Given the description of an element on the screen output the (x, y) to click on. 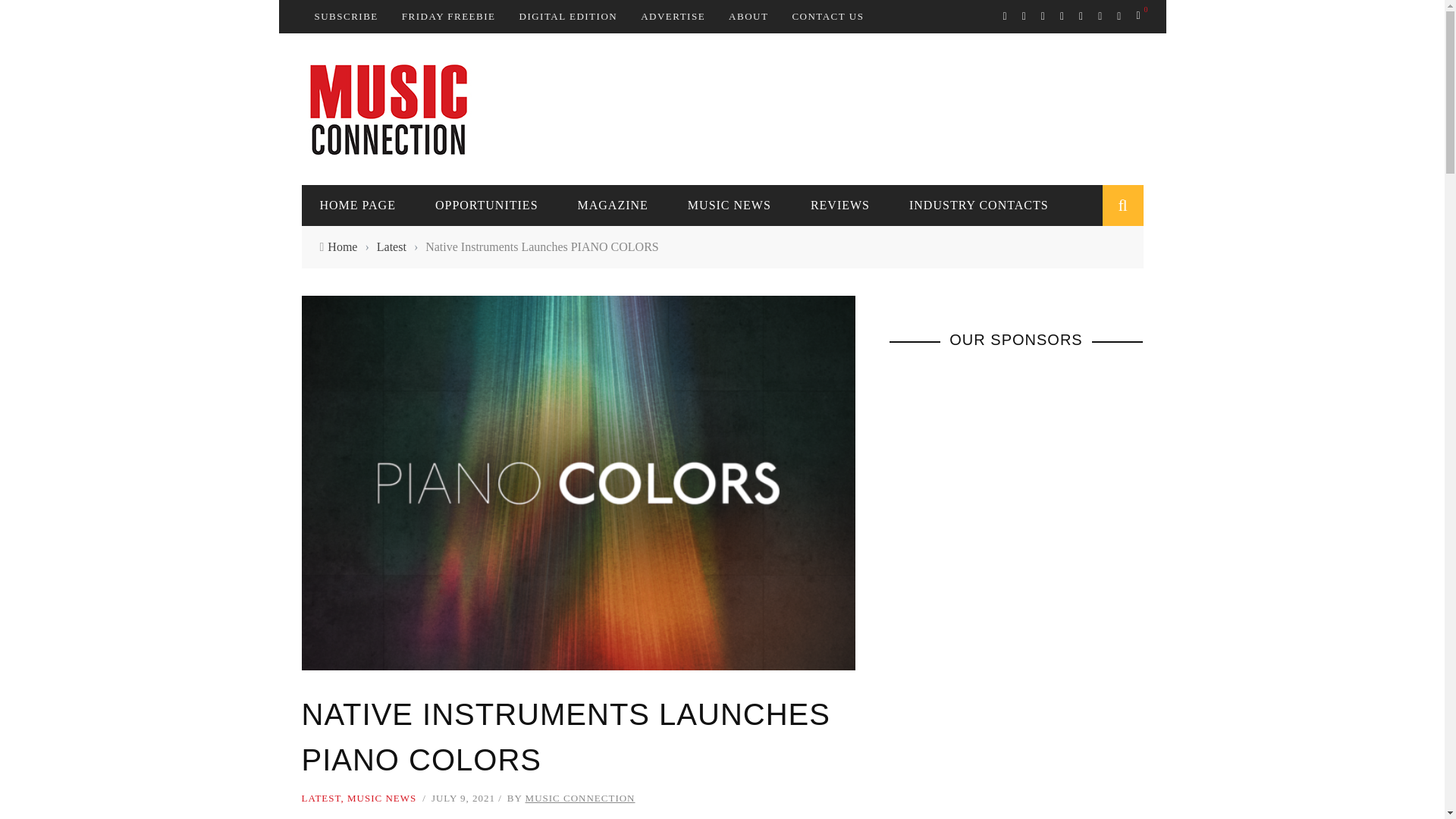
View your shopping cart (1138, 15)
3rd party ad content (866, 108)
3rd party ad content (1002, 593)
